Given the description of an element on the screen output the (x, y) to click on. 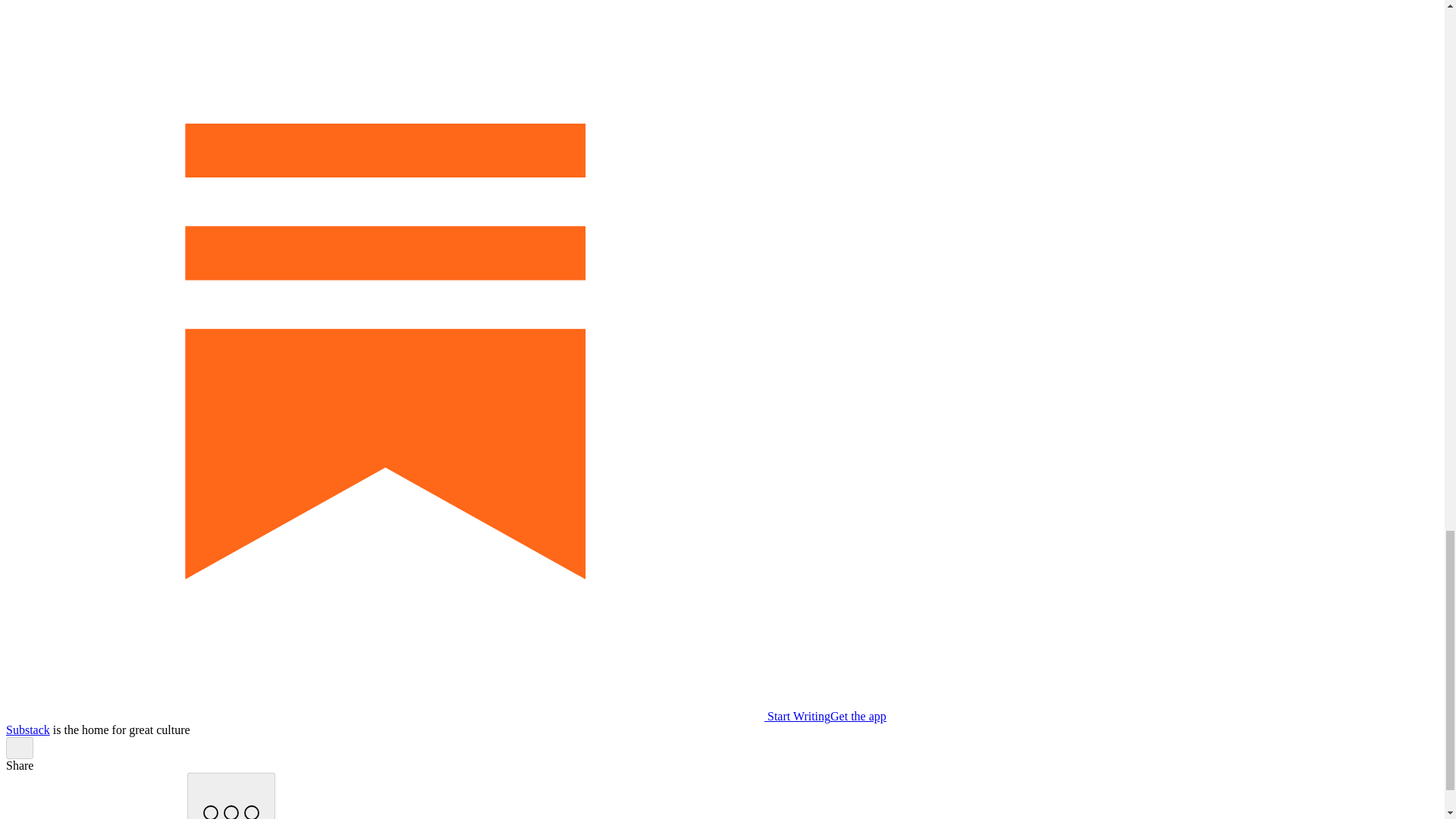
Start Writing (417, 716)
Substack (27, 729)
Get the app (857, 716)
